Given the description of an element on the screen output the (x, y) to click on. 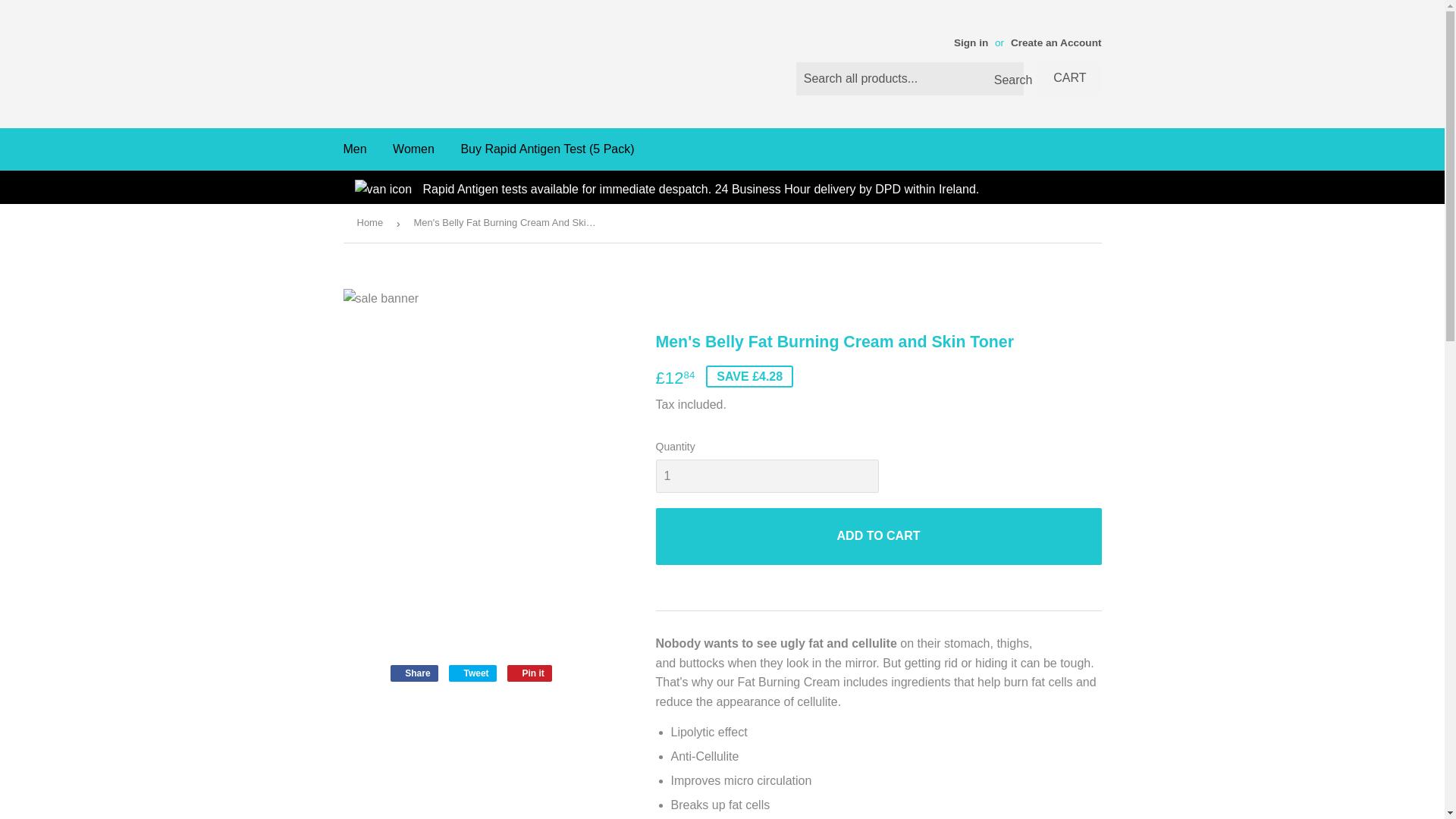
Tweet on Twitter (472, 673)
Search (1006, 79)
CART (1069, 78)
1 (766, 476)
Sign in (970, 42)
Create an Account (1056, 42)
Share on Facebook (414, 673)
Pin on Pinterest (528, 673)
